Given the description of an element on the screen output the (x, y) to click on. 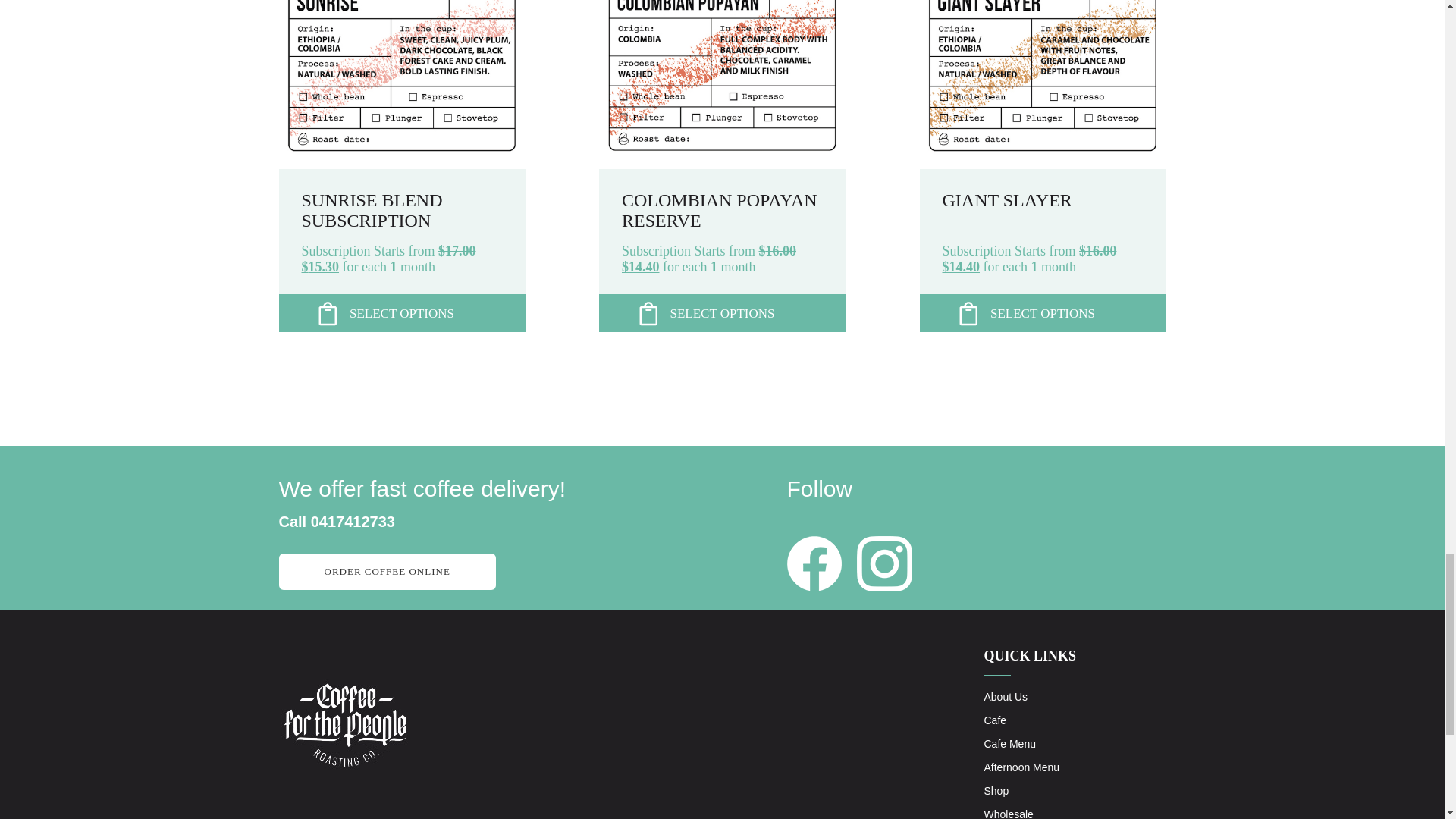
Colombian Popayan Reserve (721, 164)
Giant Slayer (1042, 164)
Sunrise Blend Subscription (402, 164)
